Given the description of an element on the screen output the (x, y) to click on. 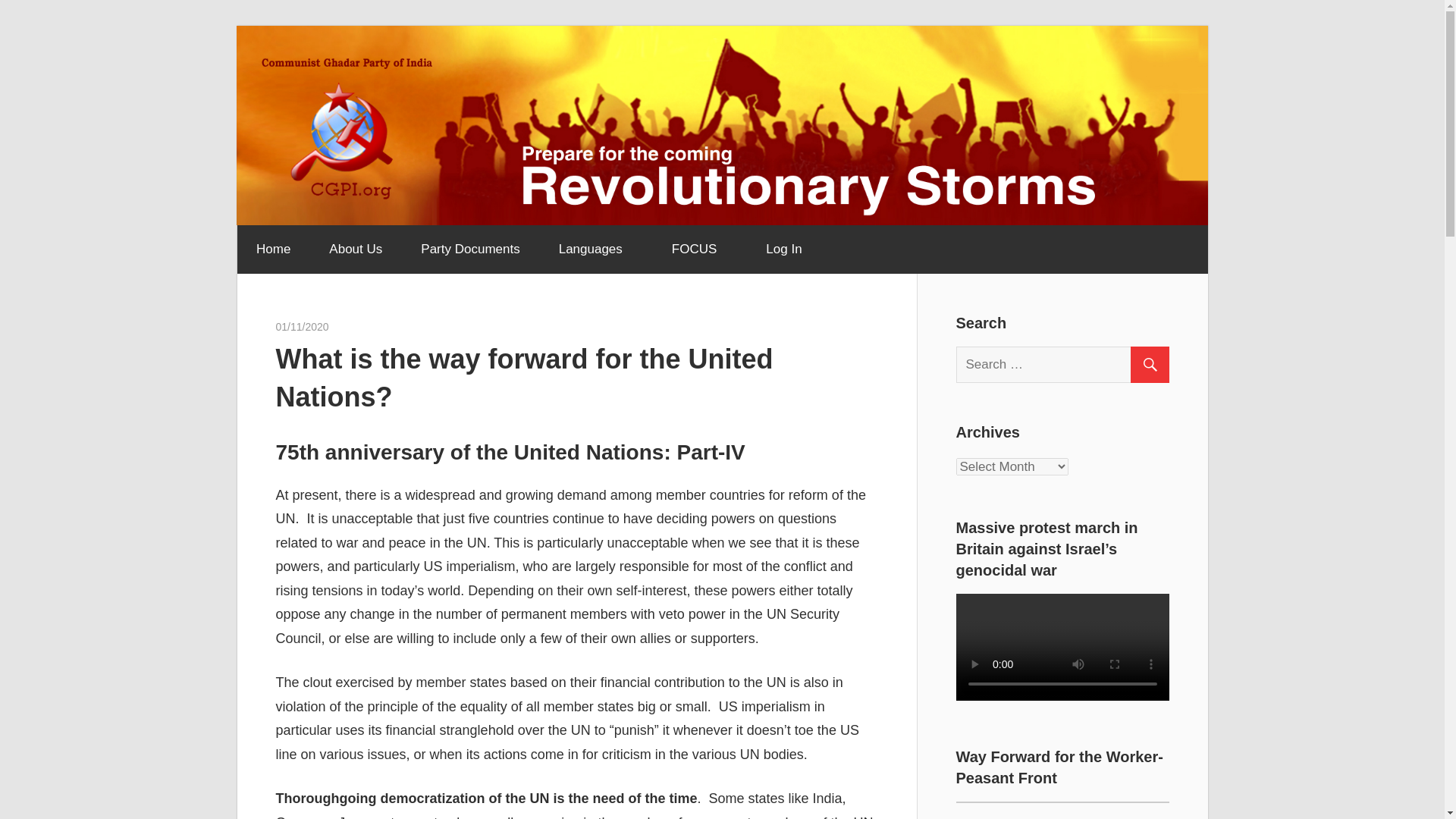
View all posts by cgpiadmin (353, 326)
Search for: (1068, 365)
Party Documents (469, 249)
Home (271, 249)
Languages (595, 249)
FOCUS (699, 249)
cgpiadmin (353, 326)
About Us (355, 249)
Log In (783, 249)
